Given the description of an element on the screen output the (x, y) to click on. 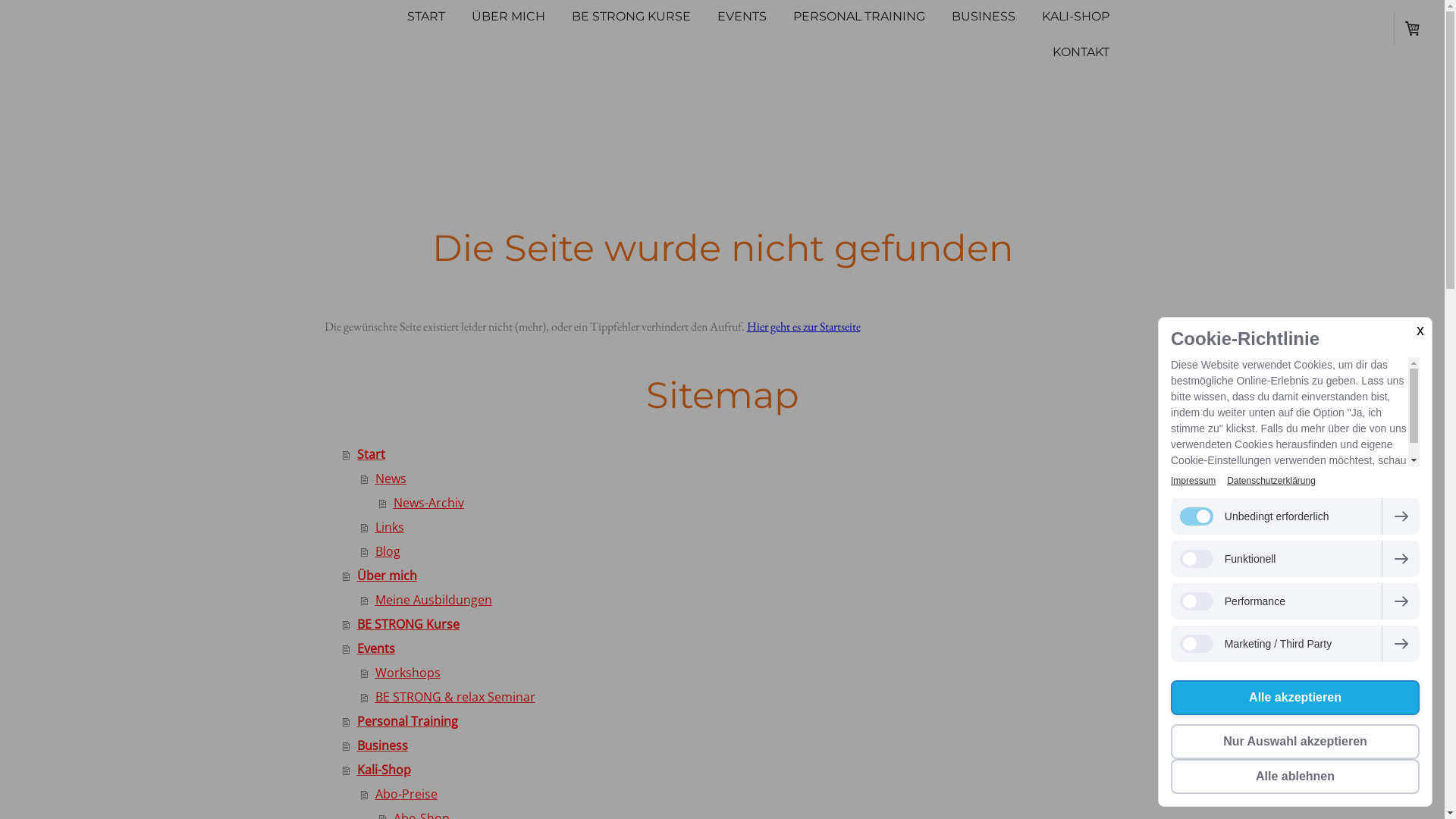
Nur Auswahl akzeptieren Element type: text (1294, 741)
Business Element type: text (731, 745)
Events Element type: text (731, 648)
Abo-Preise Element type: text (740, 793)
Start Element type: text (731, 454)
Impressum Element type: text (1192, 480)
Hier geht es zur Startseite Element type: text (802, 326)
PERSONAL TRAINING Element type: text (858, 17)
EVENTS Element type: text (741, 17)
BE STRONG & relax Seminar Element type: text (740, 696)
Links Element type: text (740, 526)
Personal Training Element type: text (731, 721)
Alle ablehnen Element type: text (1294, 776)
Workshops Element type: text (740, 672)
BE STRONG KURSE Element type: text (630, 17)
KONTAKT Element type: text (1080, 53)
Kali-Shop Element type: text (731, 769)
START Element type: text (425, 17)
News-Archiv Element type: text (749, 502)
News Element type: text (740, 478)
BUSINESS Element type: text (983, 17)
Meine Ausbildungen Element type: text (740, 599)
KALI-SHOP Element type: text (1074, 17)
Alle akzeptieren Element type: text (1294, 697)
BE STRONG Kurse Element type: text (731, 623)
Blog Element type: text (740, 551)
